Given the description of an element on the screen output the (x, y) to click on. 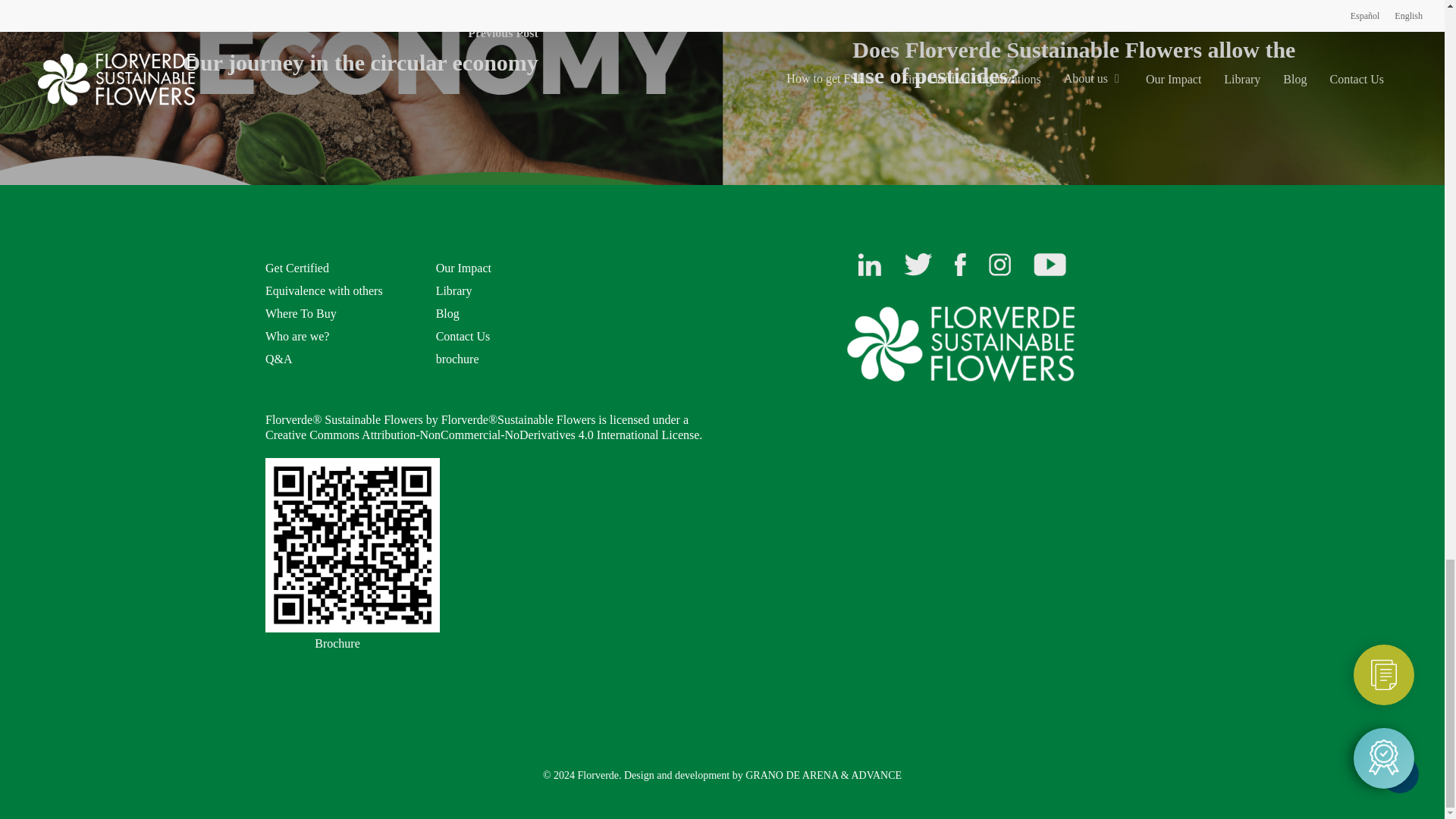
Get Certified (296, 267)
Where To Buy (300, 313)
Our Impact (463, 267)
Who are we? (296, 336)
Equivalence with others (323, 290)
Library (453, 290)
